Given the description of an element on the screen output the (x, y) to click on. 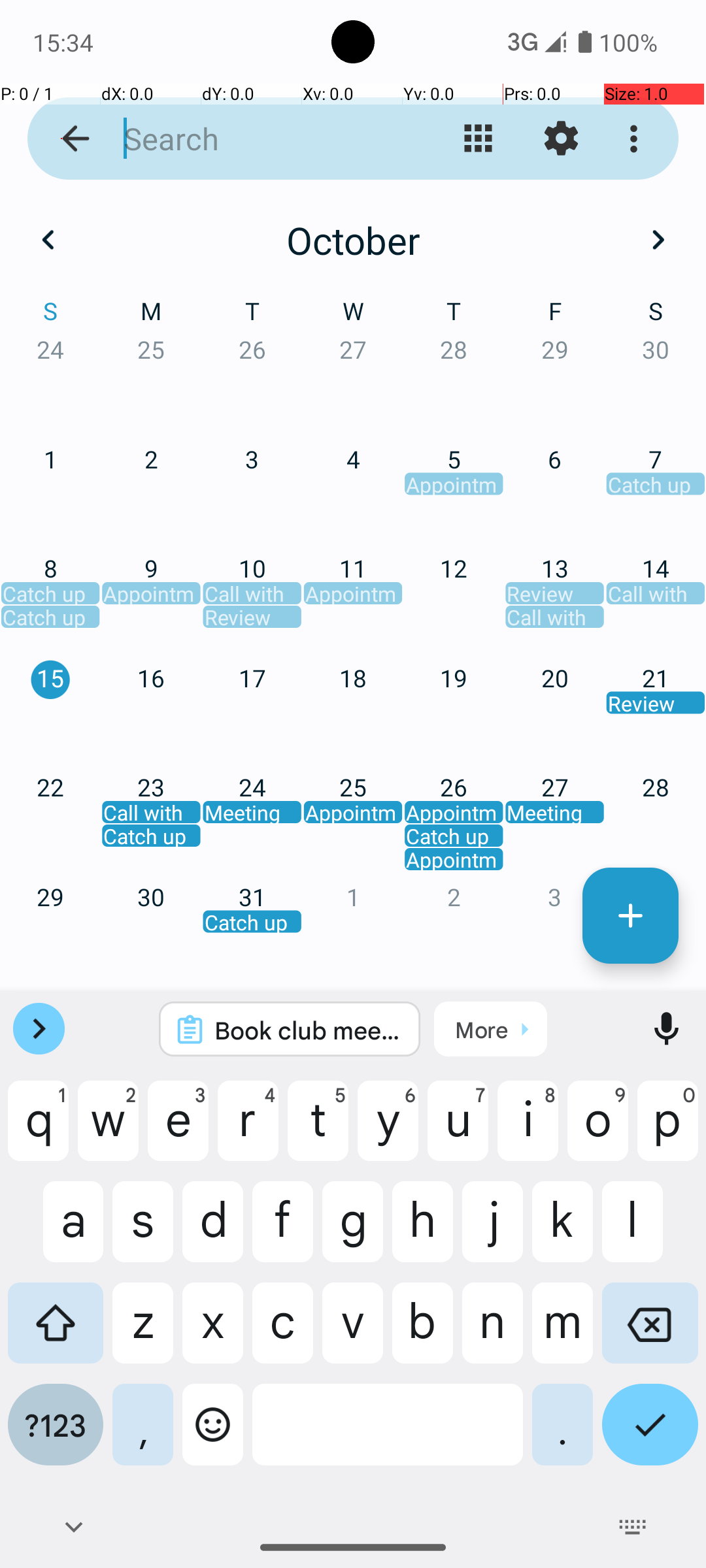
Book club meets next Tuesday to discuss '1984'. Element type: android.widget.TextView (306, 1029)
